Given the description of an element on the screen output the (x, y) to click on. 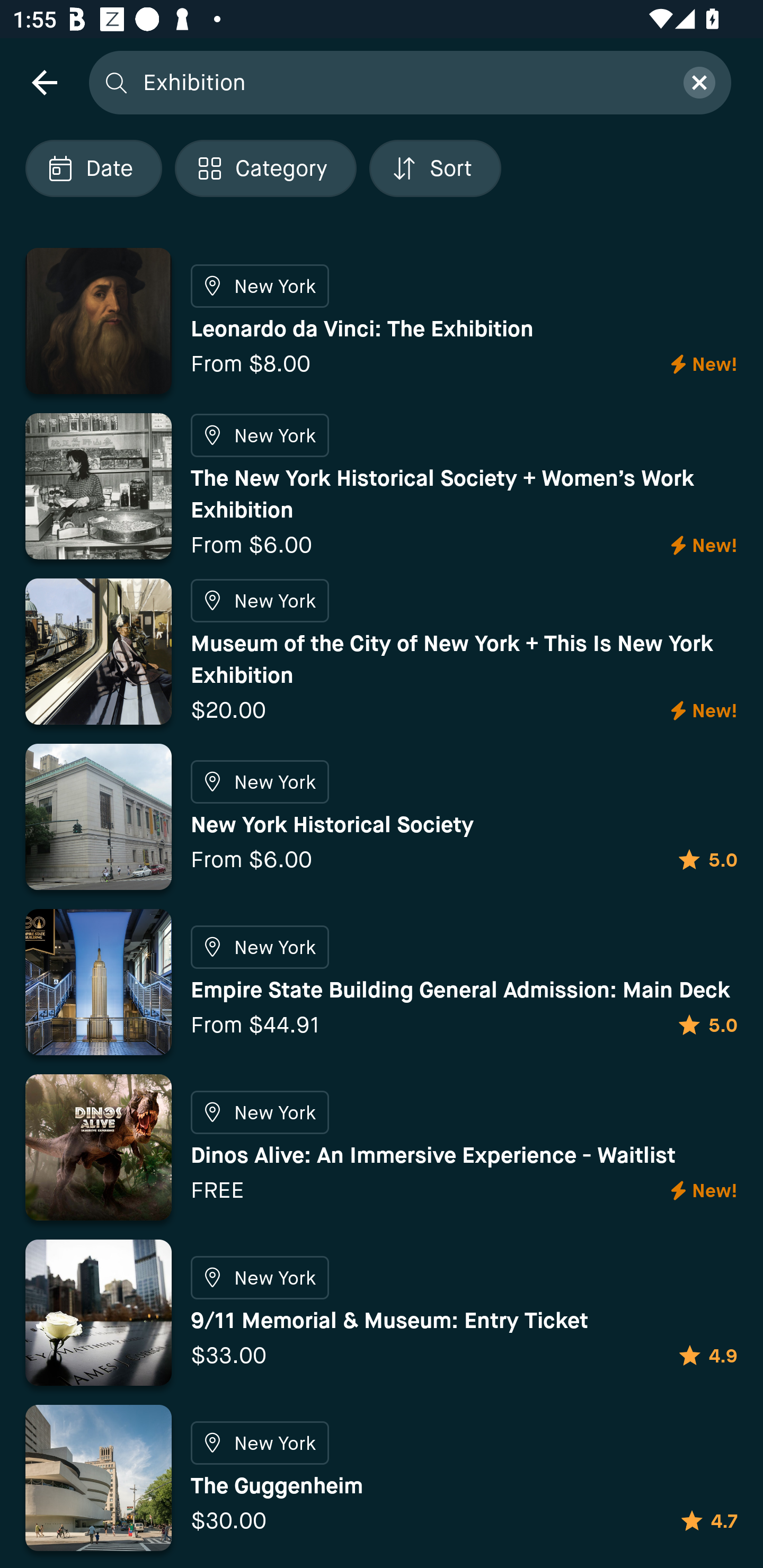
navigation icon (44, 81)
Exhibition (402, 81)
Localized description Date (93, 168)
Localized description Category (265, 168)
Localized description Sort (435, 168)
